Given the description of an element on the screen output the (x, y) to click on. 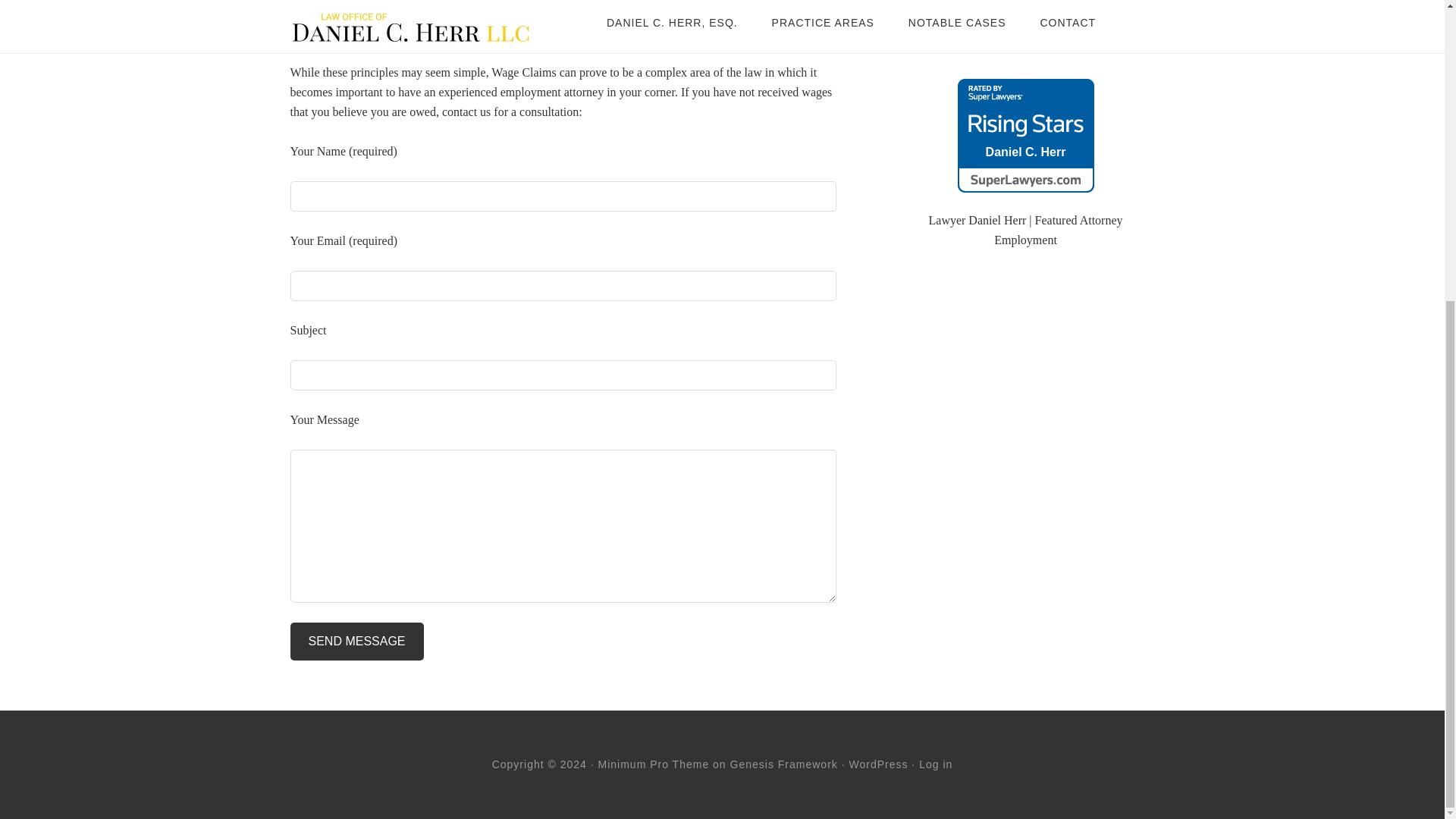
Log in (935, 764)
Send Message (356, 641)
Send Message (356, 641)
Minimum Pro Theme (654, 764)
Genesis Framework (784, 764)
WordPress (877, 764)
Lawyer Daniel Herr (977, 219)
Featured Attorney Employment (1058, 229)
Daniel C. Herr (1024, 122)
